Given the description of an element on the screen output the (x, y) to click on. 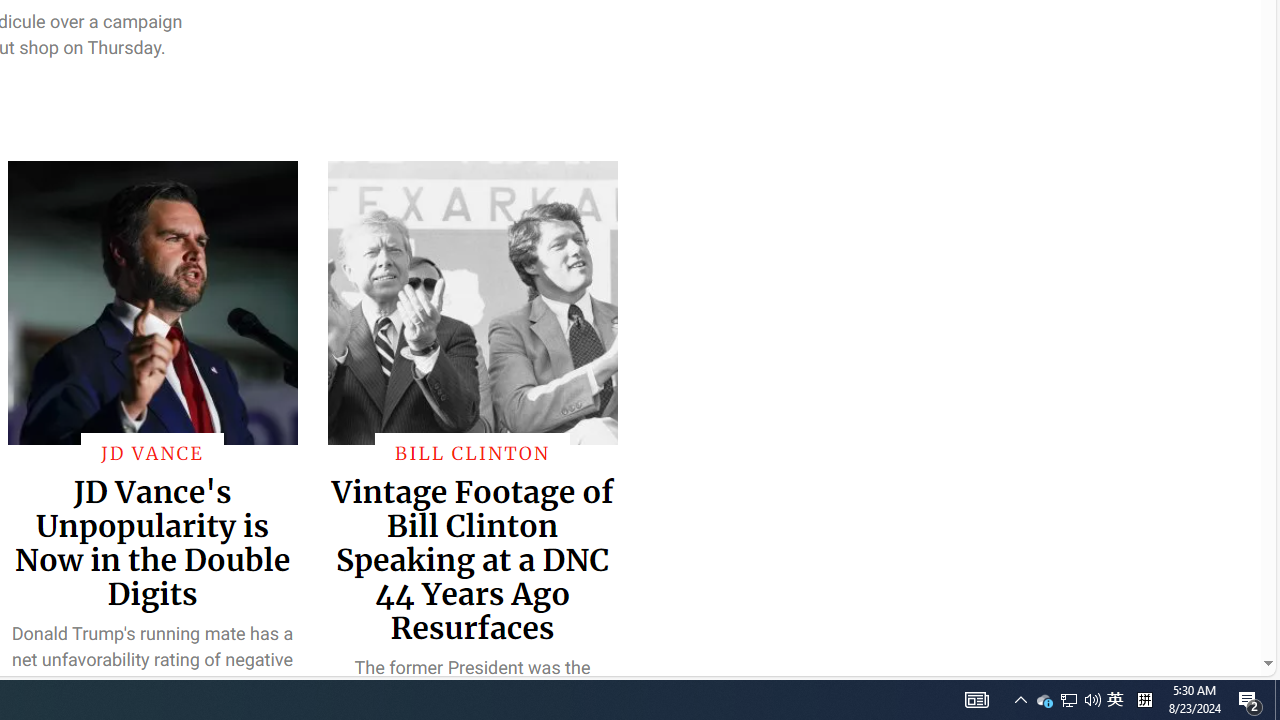
BILL CLINTON (472, 452)
Notification Chevron (1020, 699)
Tray Input Indicator - Chinese (Simplified, China) (1144, 699)
User Promoted Notification Area (1068, 699)
JD VANCE (1044, 699)
Show desktop (151, 452)
JD Vance's Unpopularity is Now in the Double Digits (1277, 699)
Action Center, 2 new notifications (152, 542)
AutomationID: 4105 (1250, 699)
Q2790: 100% (976, 699)
